Given the description of an element on the screen output the (x, y) to click on. 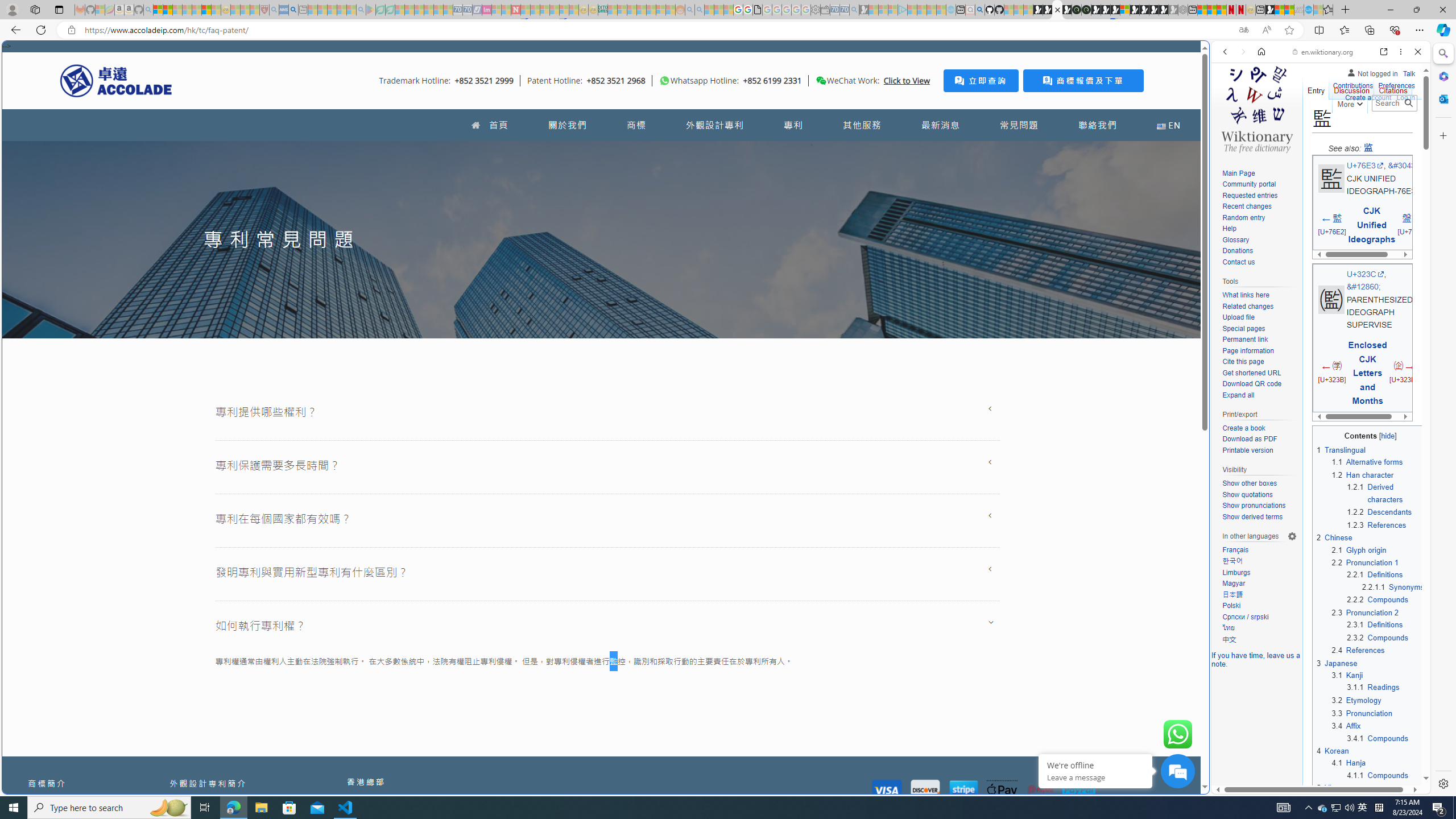
Donations (1259, 251)
4Korean4.1Hanja4.1.1Compounds (1370, 763)
3.1 Kanji (1346, 675)
Requested entries (1249, 194)
Main Page (1238, 172)
4.1 Hanja (1347, 762)
